Given the description of an element on the screen output the (x, y) to click on. 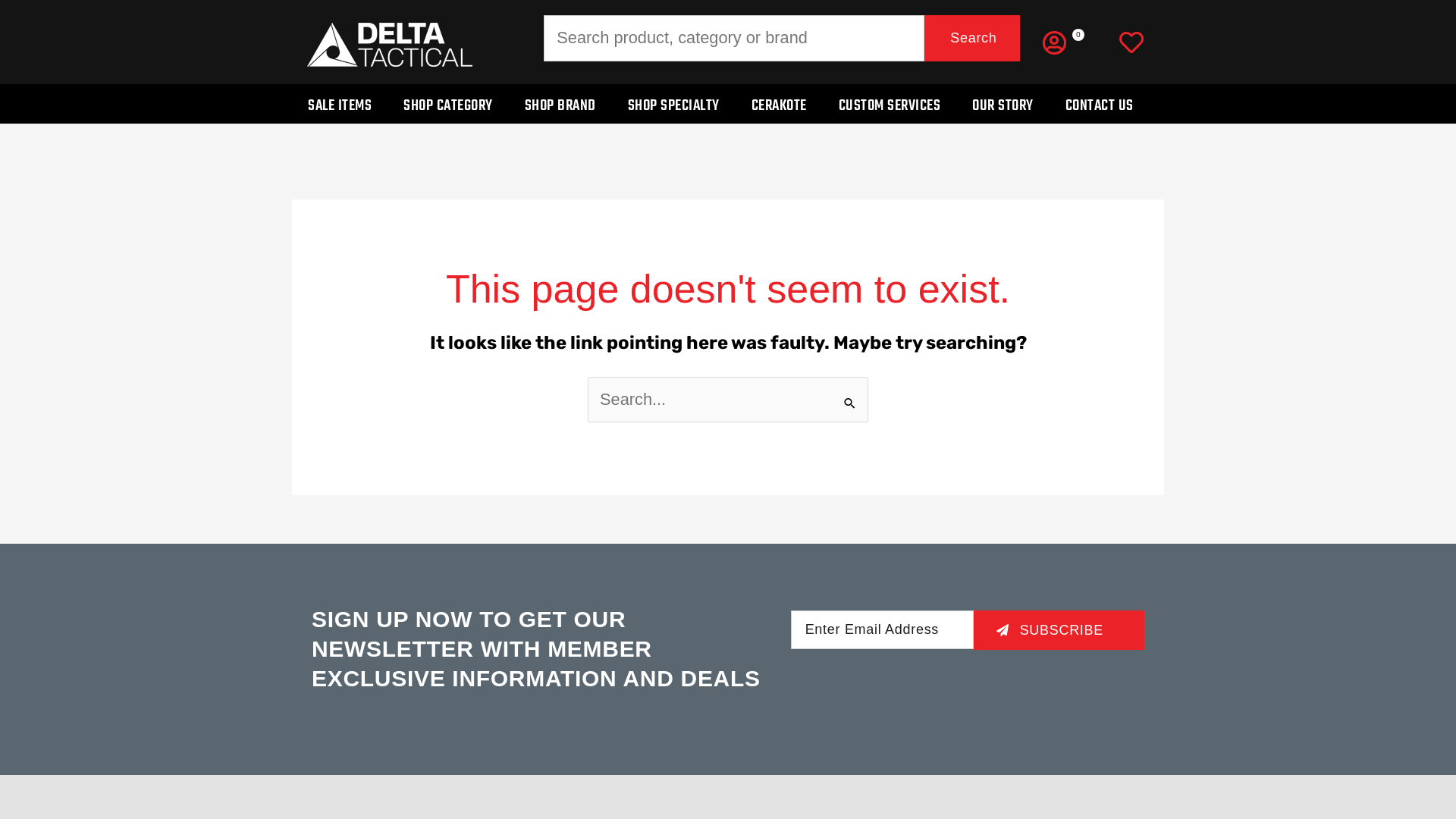
SHOP CATEGORY Element type: text (447, 103)
OUR STORY Element type: text (1002, 103)
Subscribe Element type: text (1061, 629)
Search Element type: text (851, 391)
CERAKOTE Element type: text (778, 103)
CONTACT US Element type: text (1099, 103)
CUSTOM SERVICES Element type: text (889, 103)
Search Element type: text (971, 38)
SHOP BRAND Element type: text (559, 103)
SHOP SPECIALTY Element type: text (672, 103)
Search Element type: hover (971, 38)
SALE ITEMS Element type: text (339, 103)
